Given the description of an element on the screen output the (x, y) to click on. 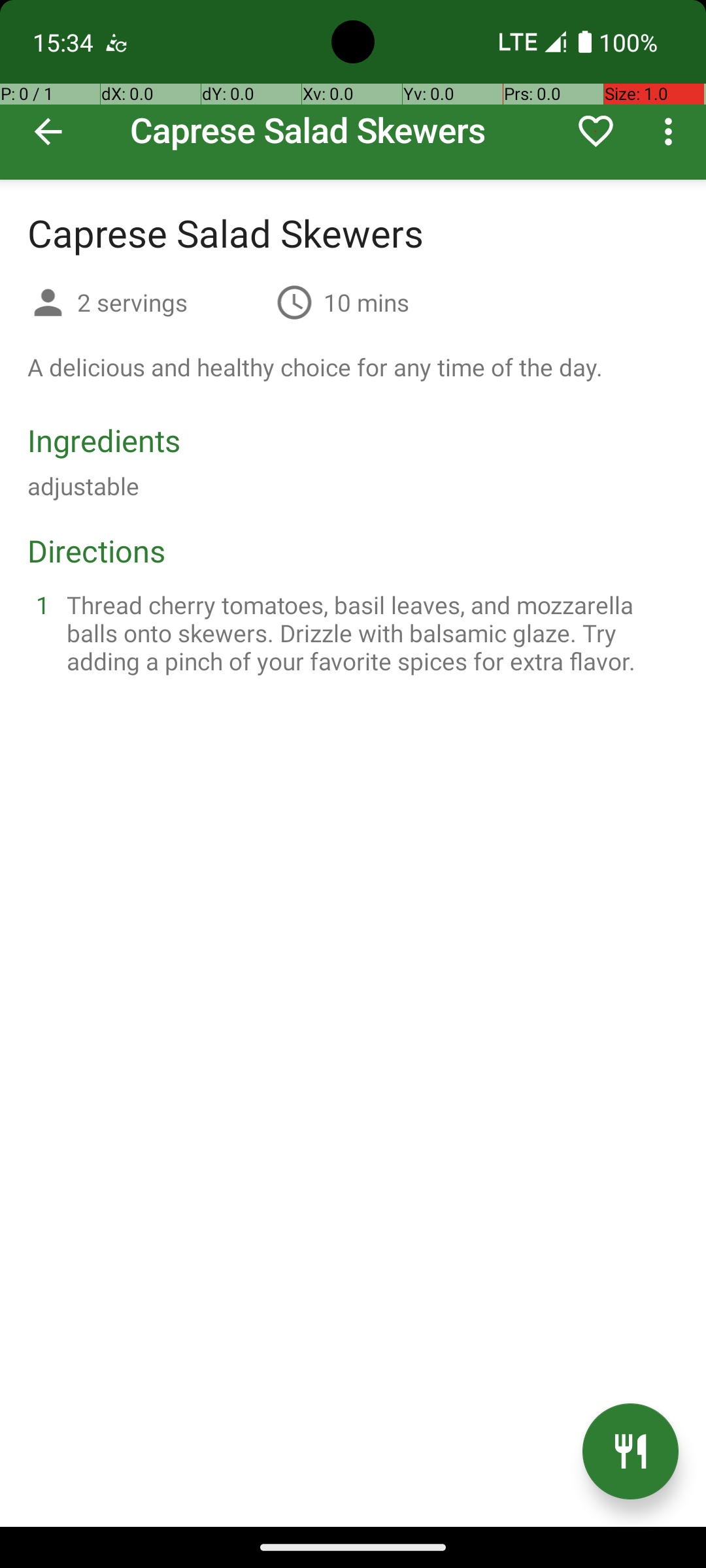
adjustable Element type: android.widget.TextView (83, 485)
Thread cherry tomatoes, basil leaves, and mozzarella balls onto skewers. Drizzle with balsamic glaze. Try adding a pinch of your favorite spices for extra flavor. Element type: android.widget.TextView (368, 632)
